Given the description of an element on the screen output the (x, y) to click on. 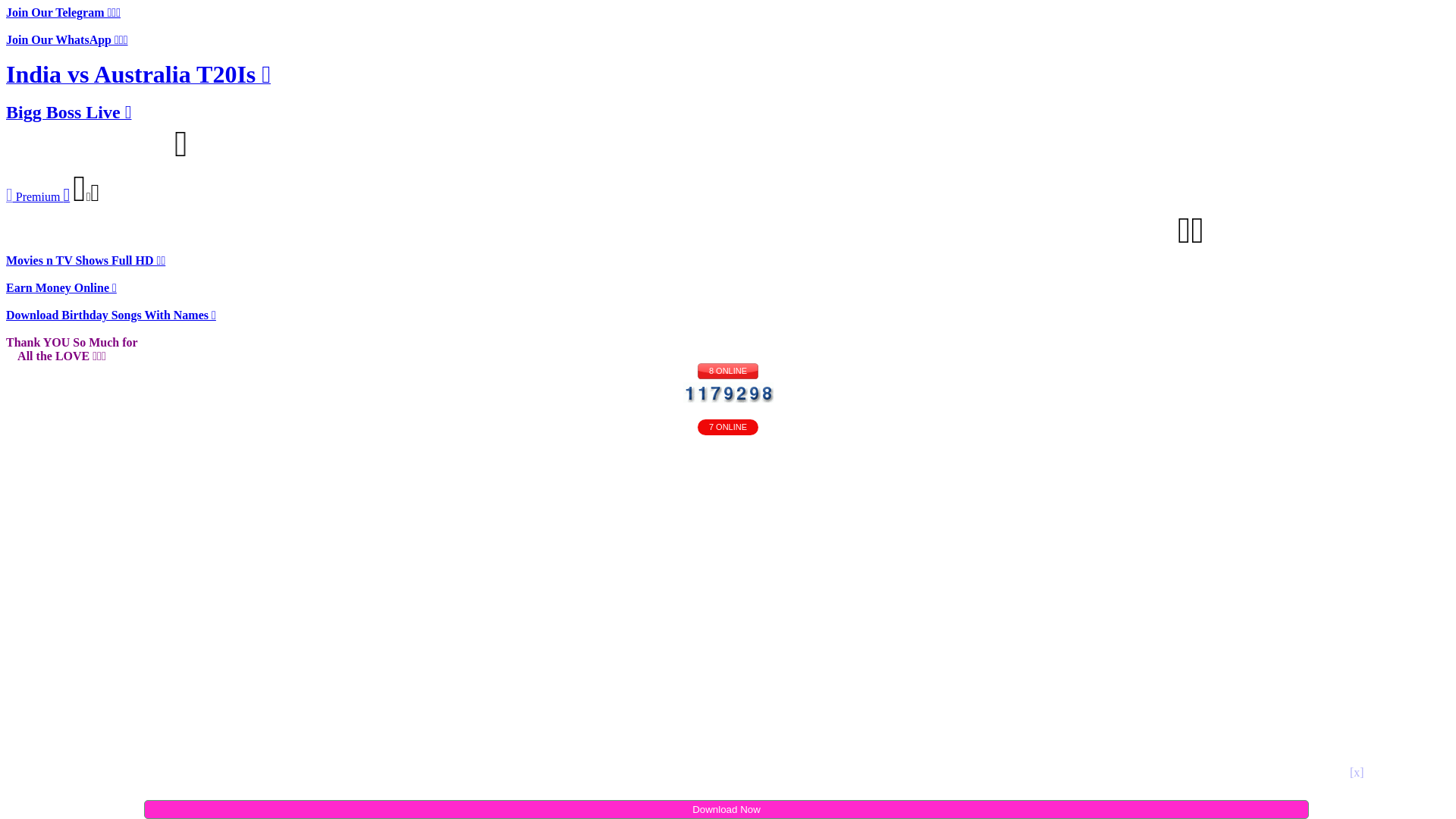
Free Hit Counter Element type: hover (727, 392)
